Given the description of an element on the screen output the (x, y) to click on. 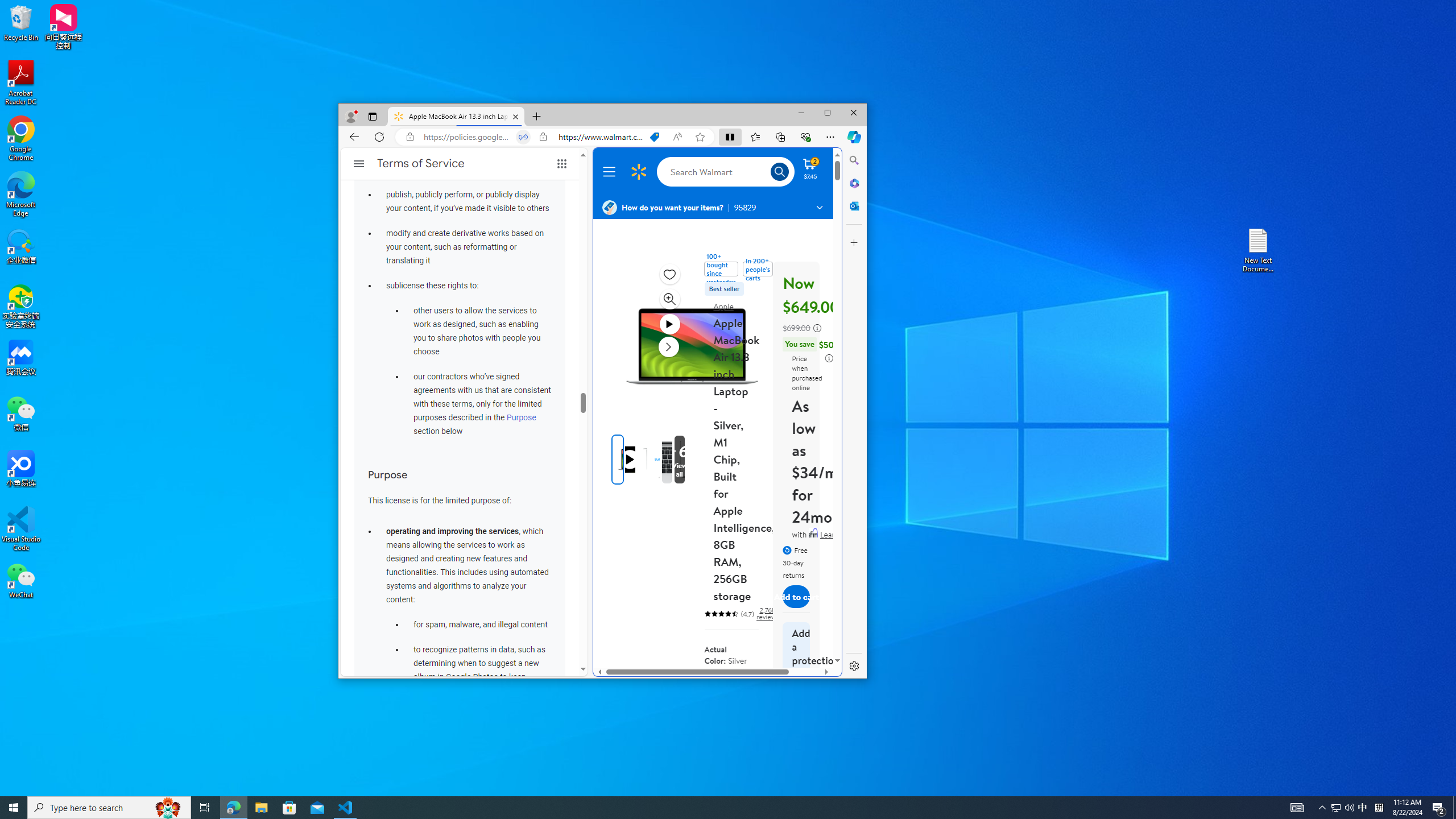
Microsoft Edge (21, 194)
File Explorer (261, 807)
next media item (668, 346)
Free 30-day returns (1335, 807)
Tray Input Indicator - Chinese (Simplified, China) (796, 561)
Learn how (1378, 807)
